Given the description of an element on the screen output the (x, y) to click on. 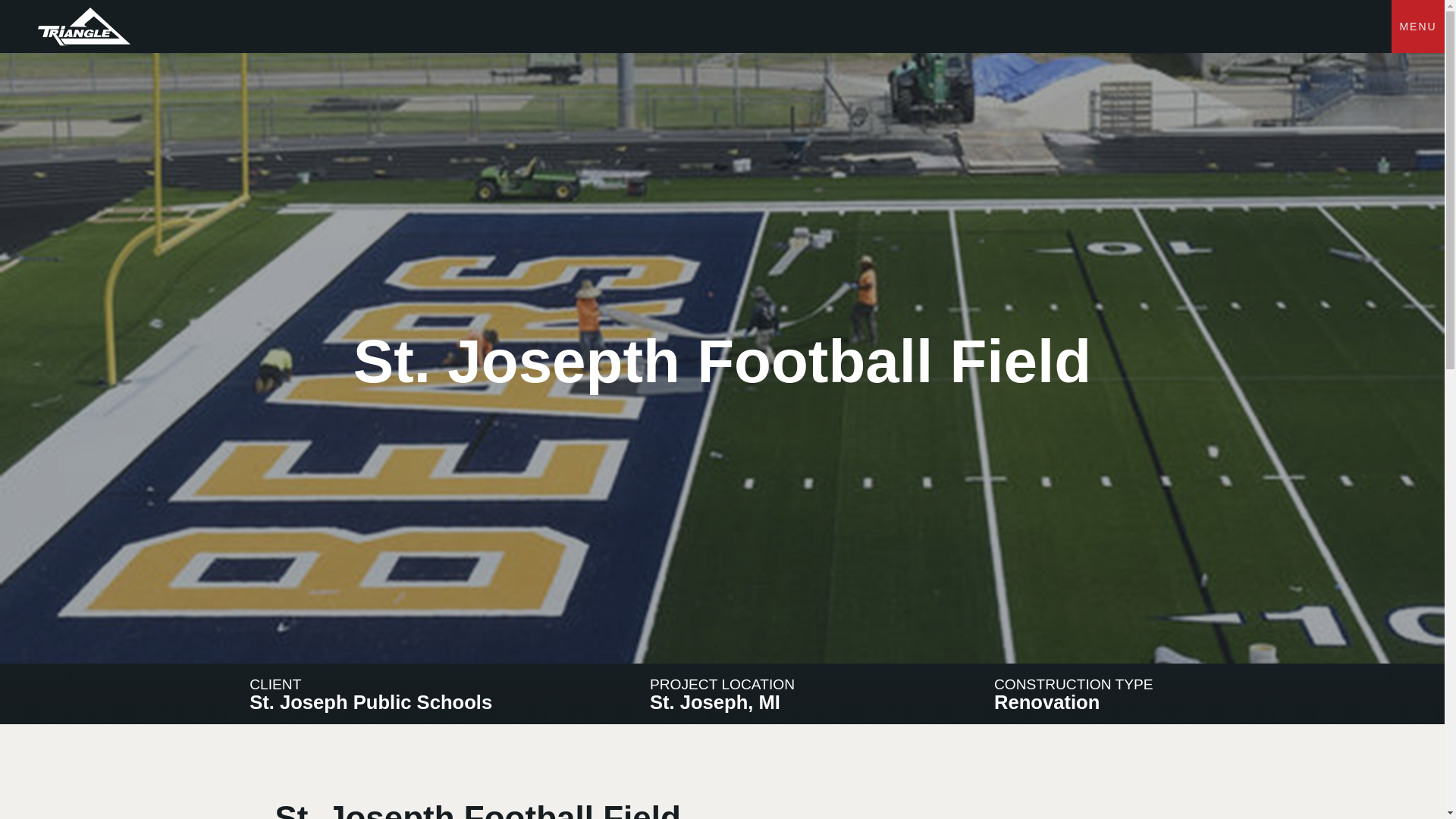
Search (1184, 128)
